Given the description of an element on the screen output the (x, y) to click on. 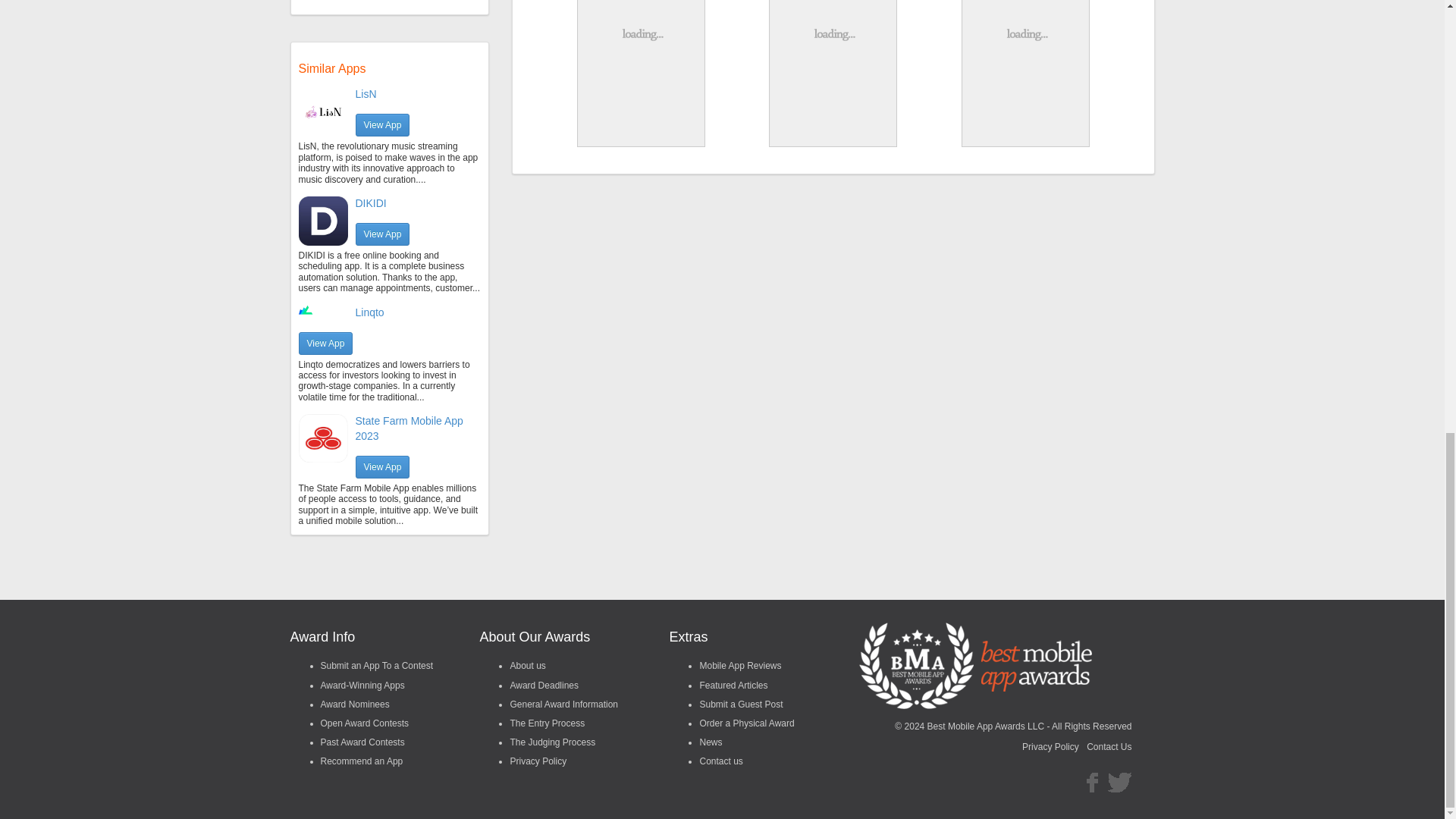
Linqto (369, 312)
LisN (365, 93)
DIKIDI (370, 203)
View App (382, 124)
View App (325, 343)
View App (382, 233)
